Given the description of an element on the screen output the (x, y) to click on. 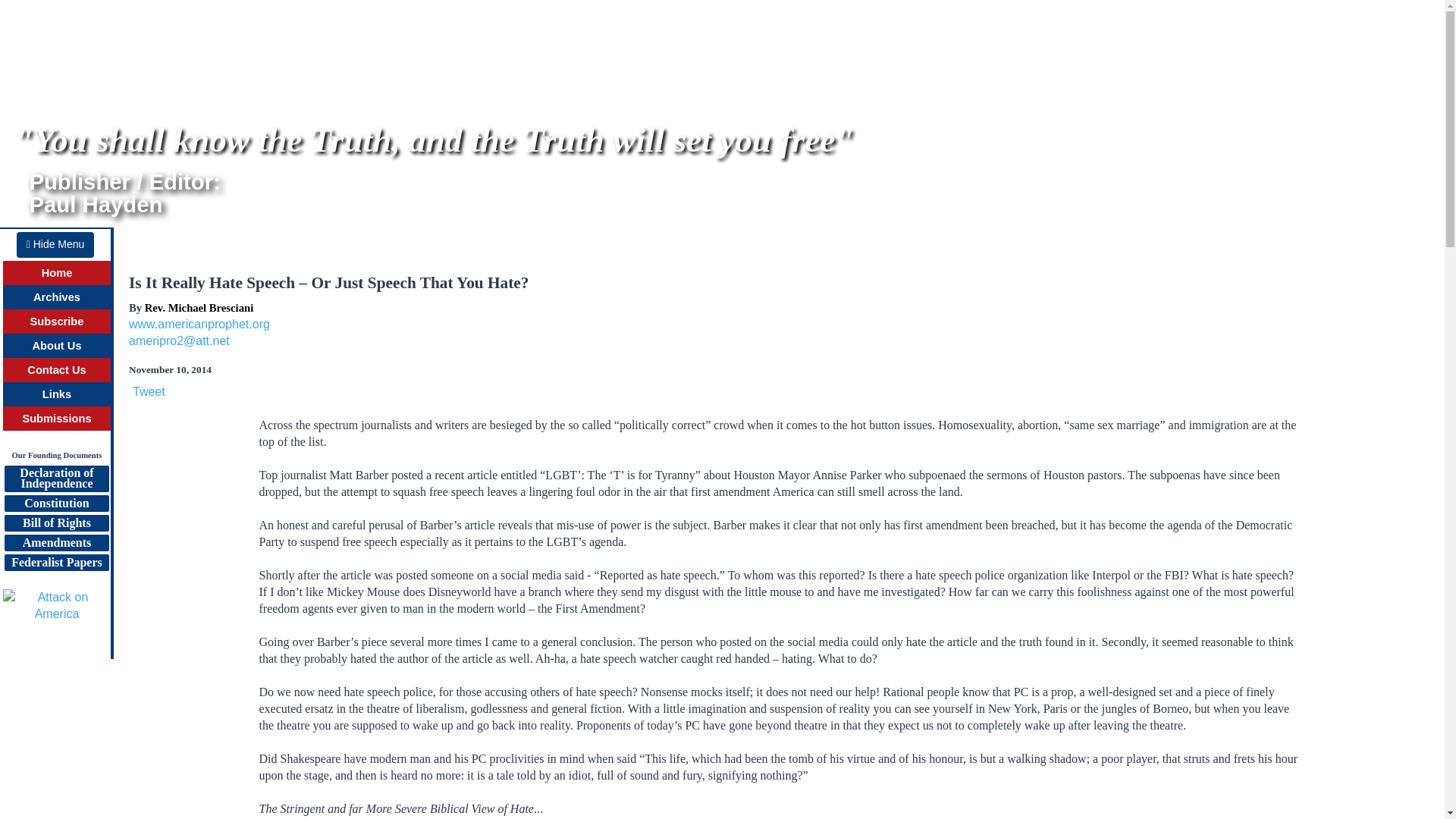
Bill of Rights (56, 523)
Submissions (55, 418)
Archives (56, 297)
www.americanprophet.org (199, 323)
Hide Menu (56, 479)
About Us (55, 244)
Tweet (56, 345)
Amendments (148, 391)
Rev. Michael Bresciani (56, 542)
